Given the description of an element on the screen output the (x, y) to click on. 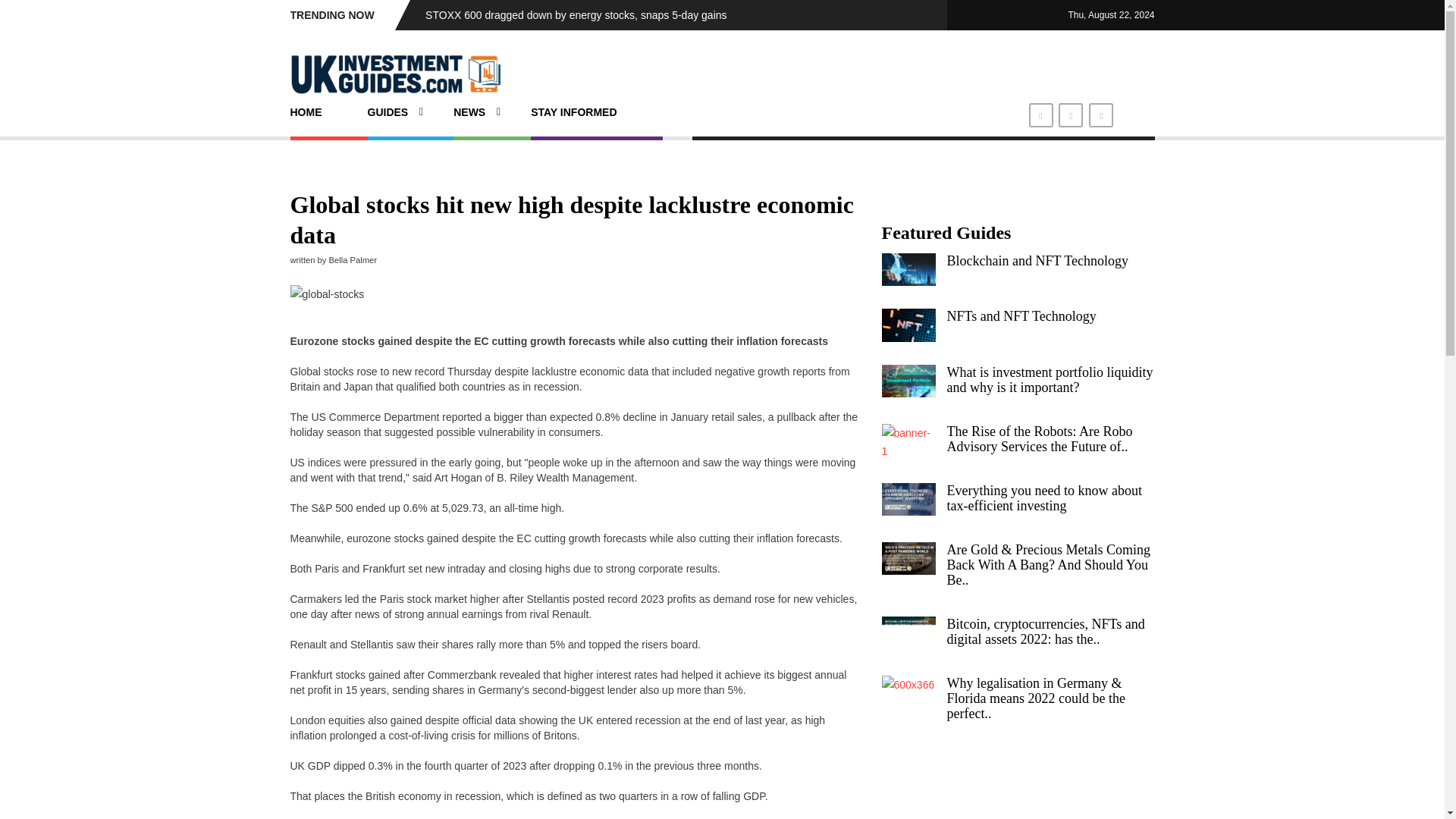
STOXX 600 dragged down by energy stocks, snaps 5-day gains (575, 15)
HOME (312, 112)
GUIDES (394, 112)
